Given the description of an element on the screen output the (x, y) to click on. 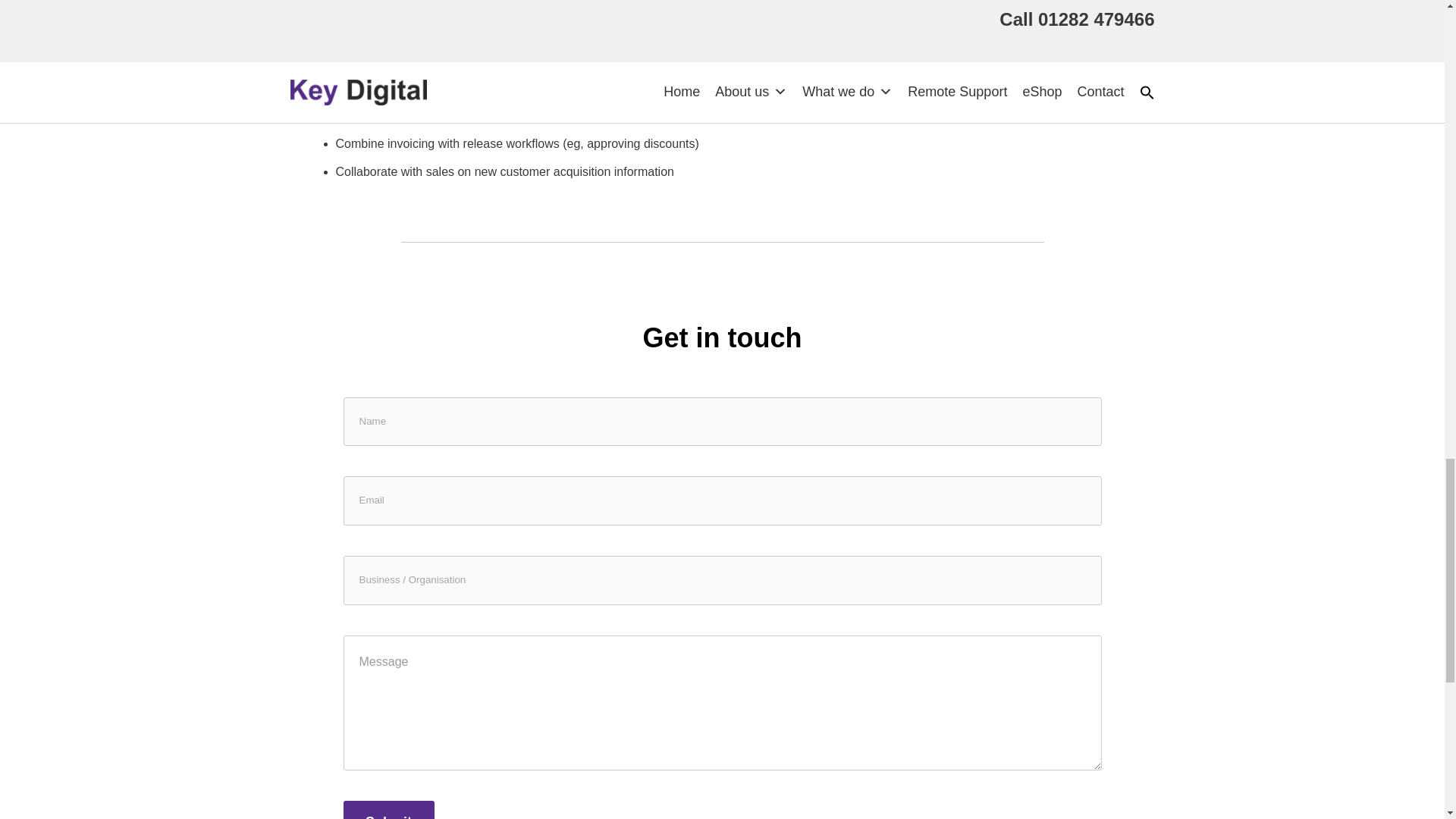
canary wharf (930, 48)
